Given the description of an element on the screen output the (x, y) to click on. 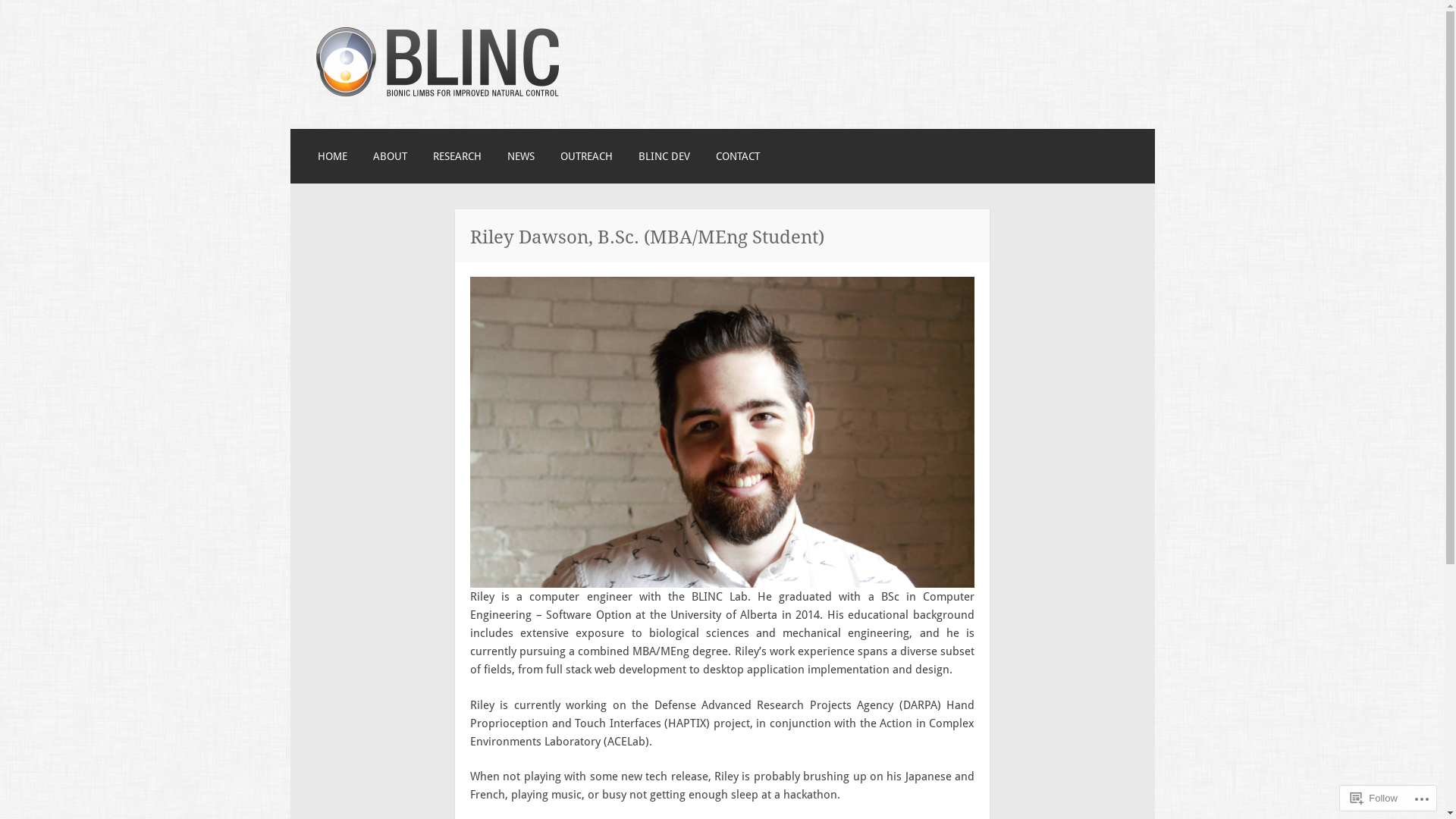
BLINC Lab Element type: text (394, 129)
BLINC Lab Element type: hover (436, 93)
Follow Element type: text (1373, 797)
NEWS Element type: text (520, 155)
ABOUT Element type: text (390, 155)
HOME Element type: text (332, 155)
CONTACT Element type: text (737, 155)
OUTREACH Element type: text (586, 155)
BLINC DEV Element type: text (664, 155)
Search Element type: text (42, 17)
RESEARCH Element type: text (457, 155)
